Given the description of an element on the screen output the (x, y) to click on. 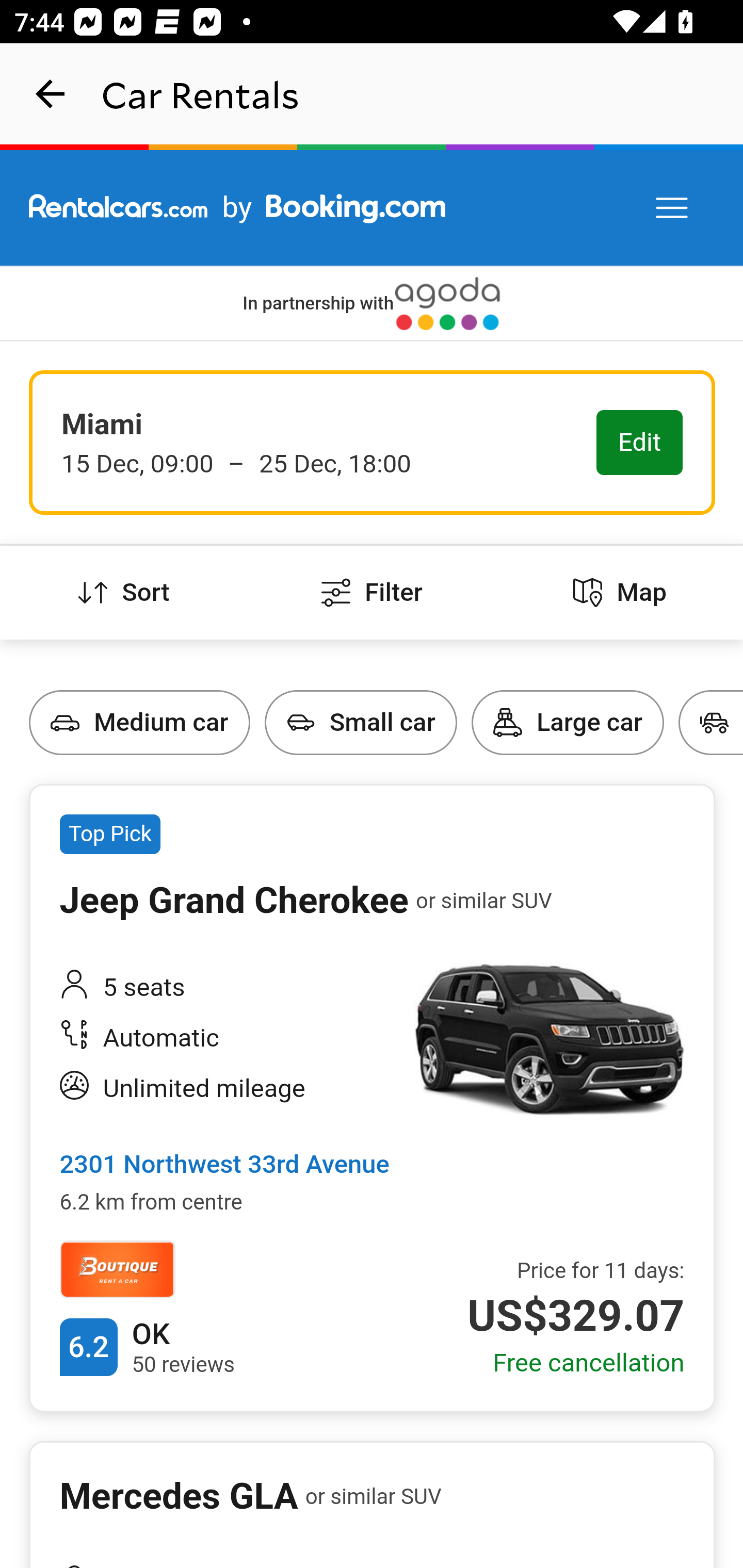
navigation_button (50, 93)
Menu (672, 208)
Edit (639, 443)
Sort (124, 592)
Filter (371, 592)
5 seats (225, 987)
Automatic (225, 1039)
Unlimited mileage (225, 1088)
2301 Northwest 33rd Avenue (223, 1165)
6.2 6.2 OK Customer rating 6.2 OK 50 reviews (146, 1346)
